Given the description of an element on the screen output the (x, y) to click on. 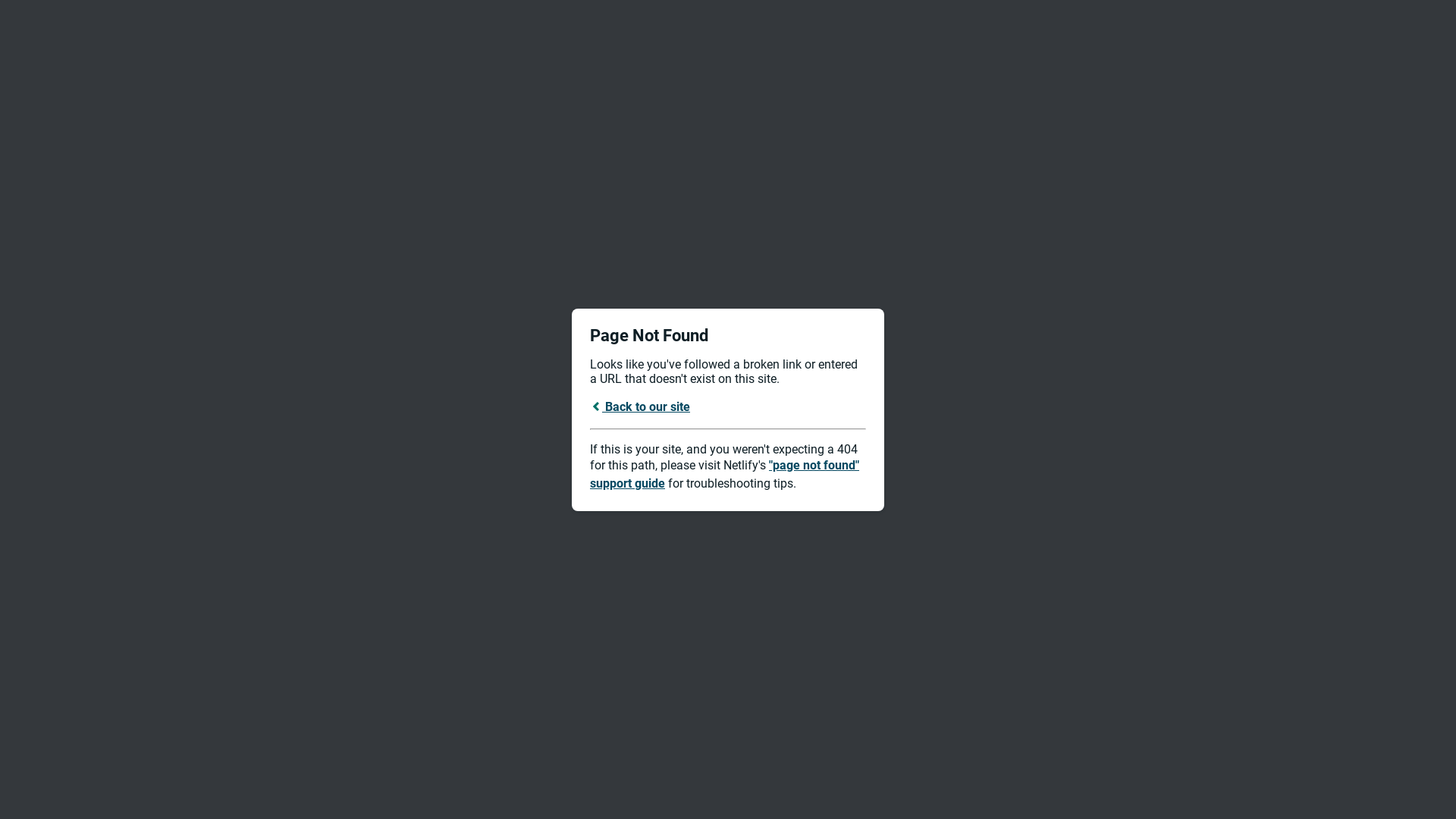
Back to our site Element type: text (639, 405)
"page not found" support guide Element type: text (724, 474)
